Given the description of an element on the screen output the (x, y) to click on. 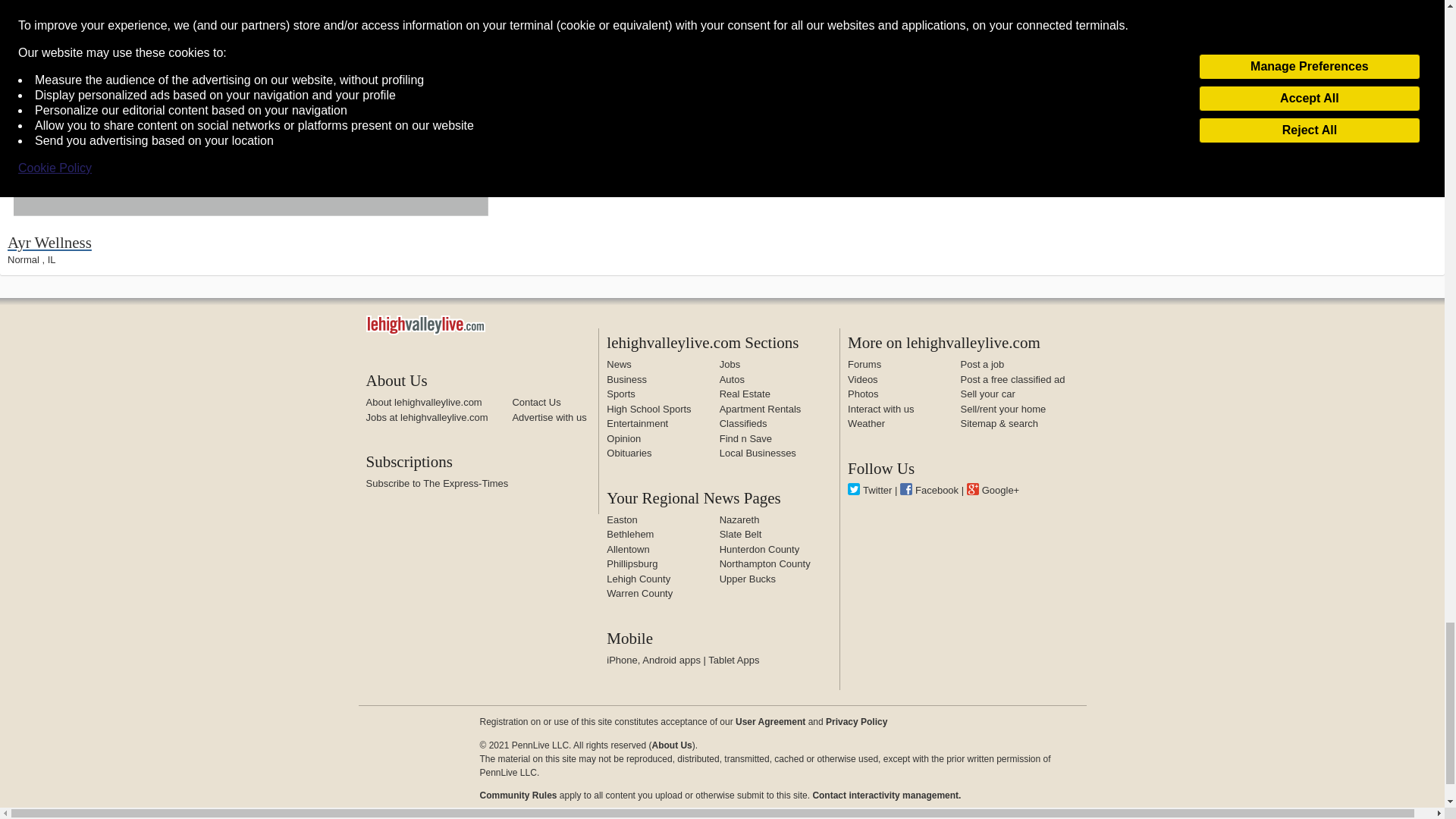
Privacy Policy (855, 721)
User Agreement (770, 721)
Contact Us (536, 401)
Community Rules (886, 795)
Community Rules (517, 795)
